Given the description of an element on the screen output the (x, y) to click on. 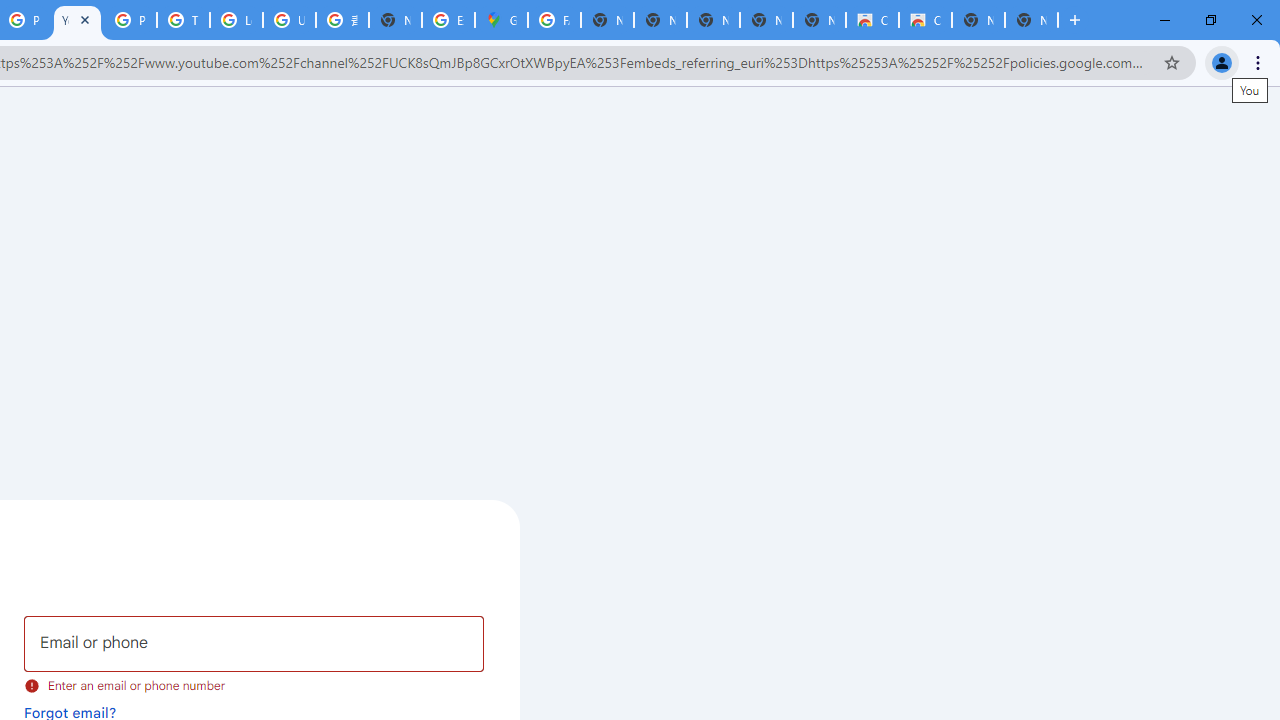
Google Maps (501, 20)
Explore new street-level details - Google Maps Help (448, 20)
Classic Blue - Chrome Web Store (925, 20)
